Given the description of an element on the screen output the (x, y) to click on. 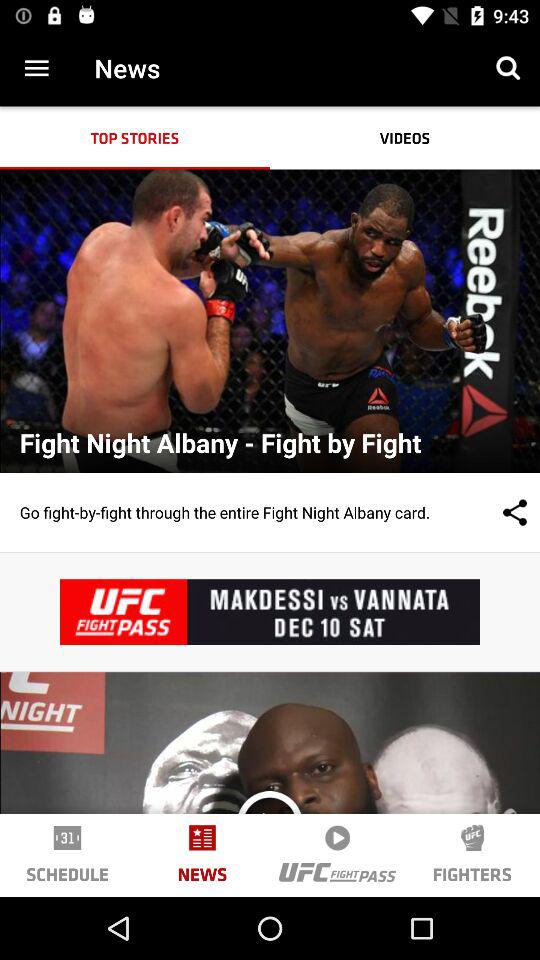
share icon (495, 512)
